Given the description of an element on the screen output the (x, y) to click on. 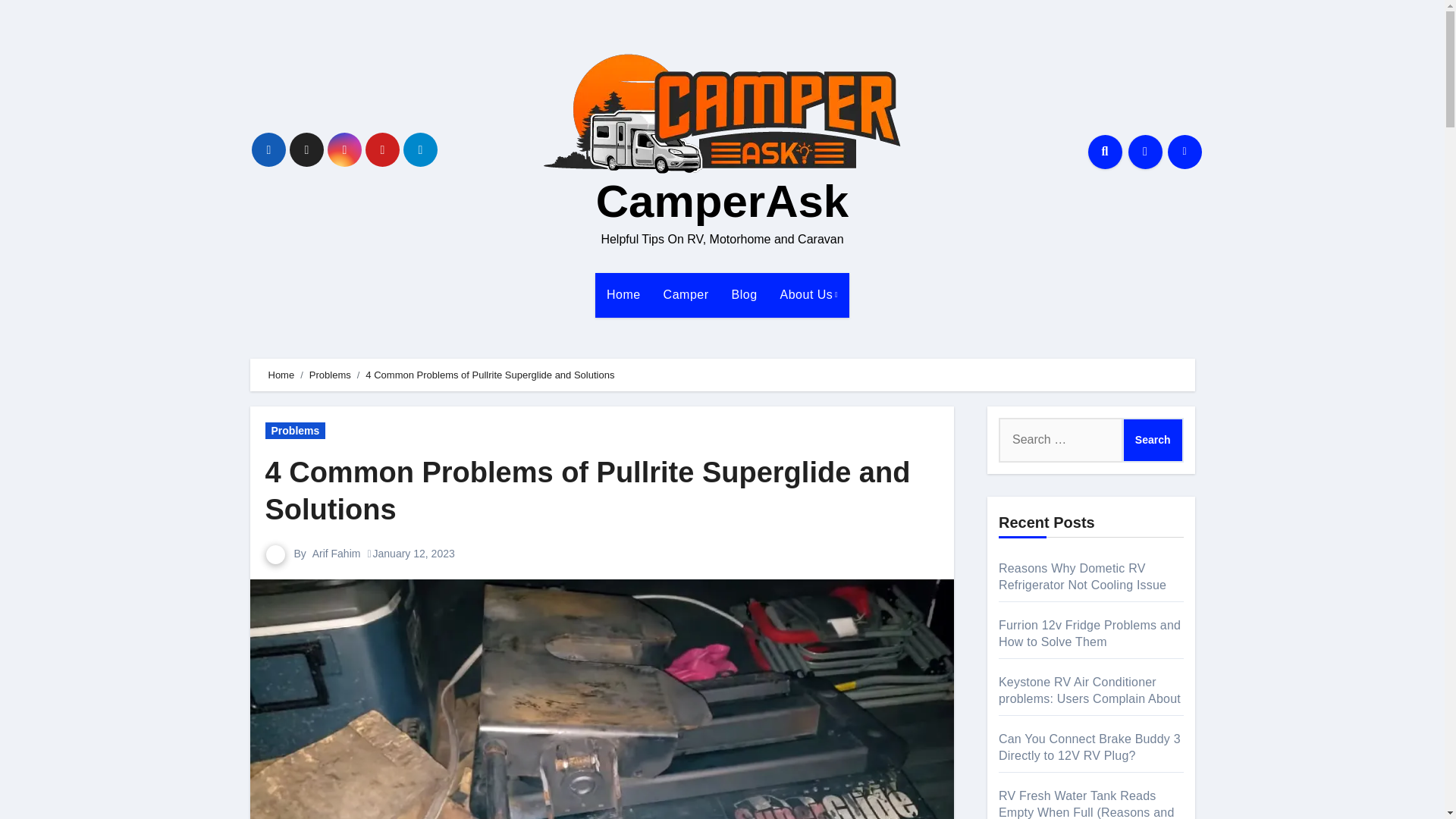
Search (1152, 439)
Blog (744, 294)
About Us (809, 294)
January 12, 2023 (413, 553)
Home (281, 374)
Camper (686, 294)
Camper (686, 294)
Arif Fahim (337, 553)
Blog (744, 294)
CamperAsk (721, 201)
4 Common Problems of Pullrite Superglide and Solutions (587, 490)
Home (623, 294)
Search (1152, 439)
Problems (329, 374)
